Given the description of an element on the screen output the (x, y) to click on. 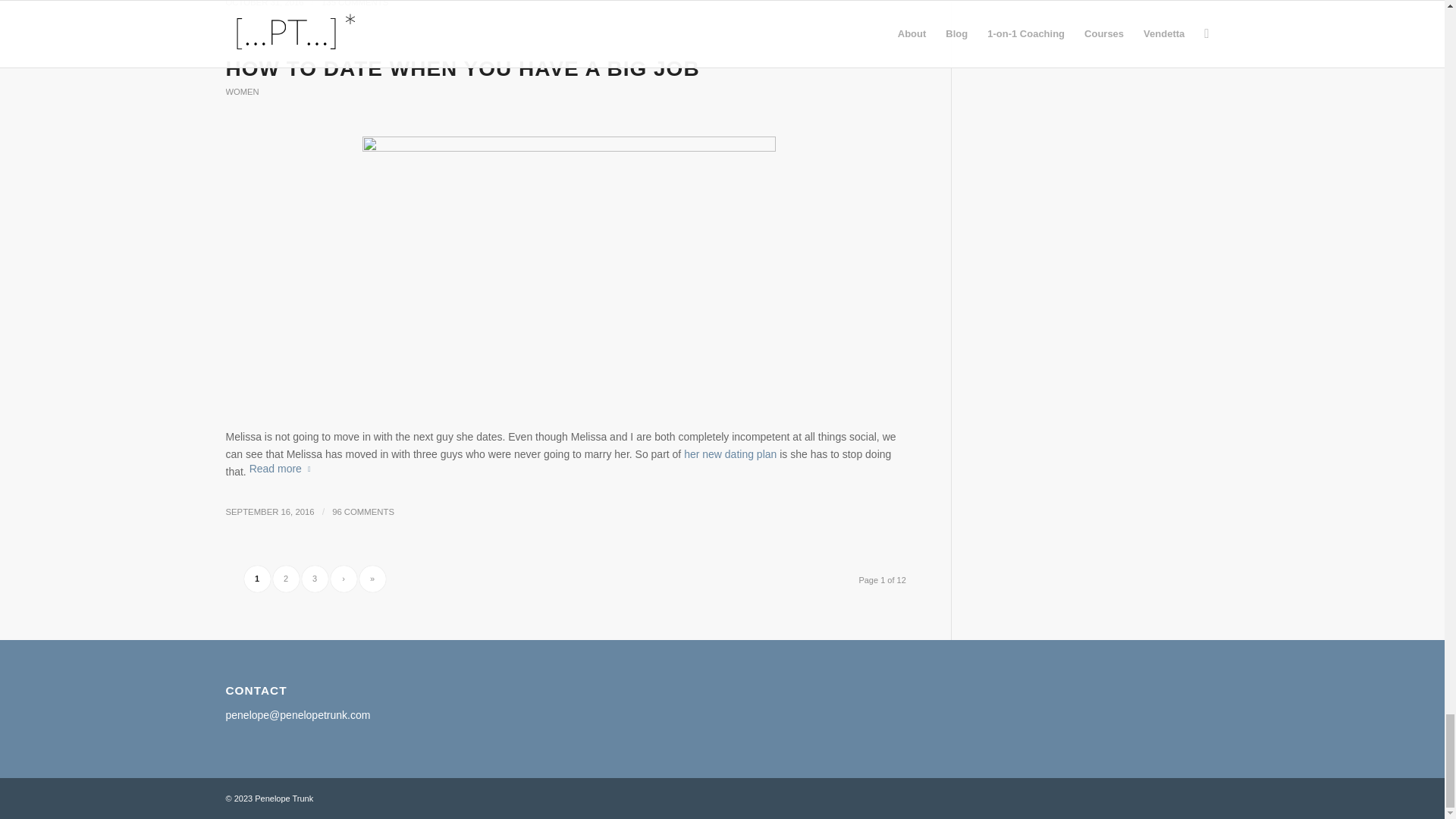
Permanent Link: How to date when you have a big job (462, 68)
